Given the description of an element on the screen output the (x, y) to click on. 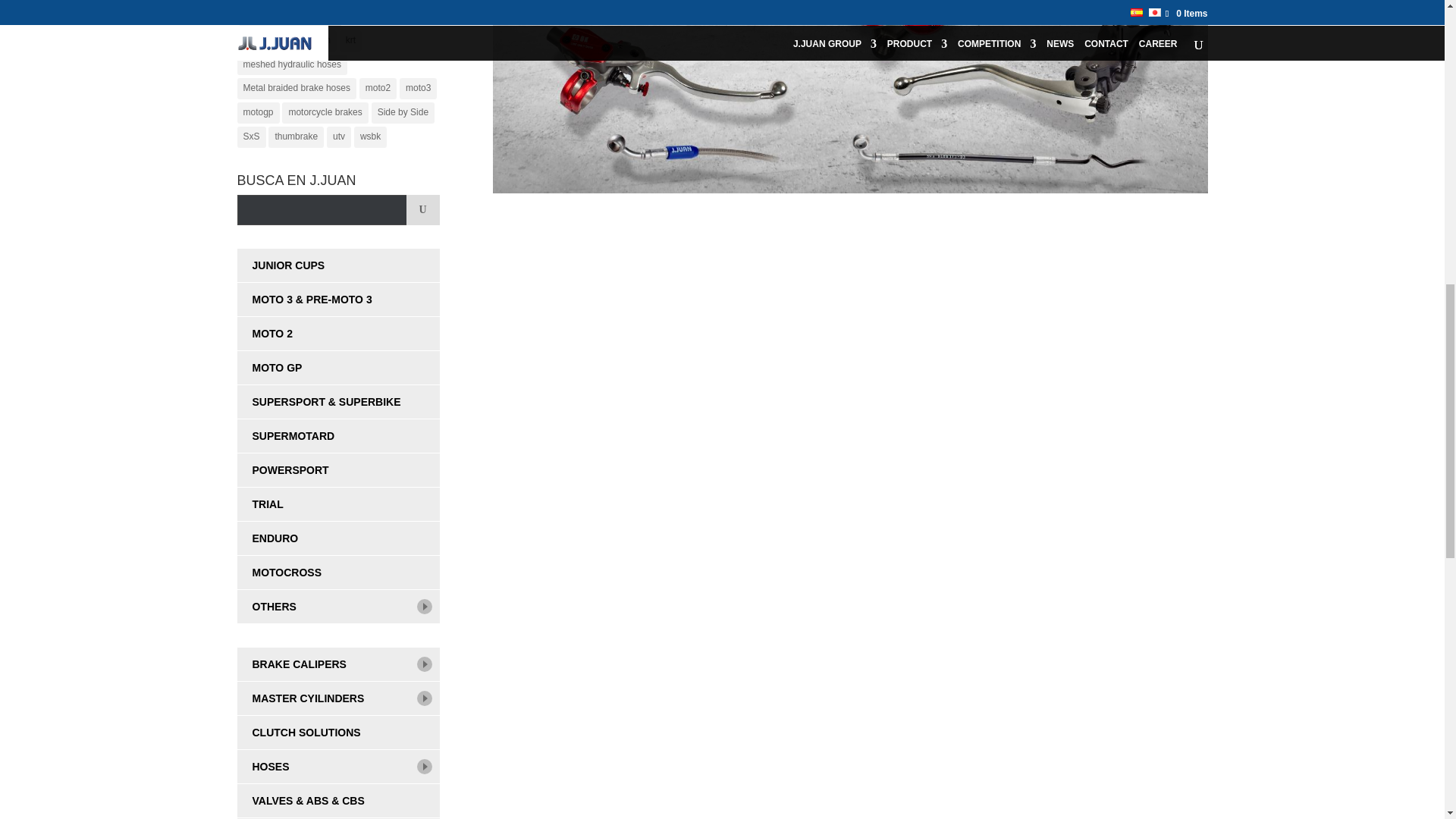
U (422, 209)
